Given the description of an element on the screen output the (x, y) to click on. 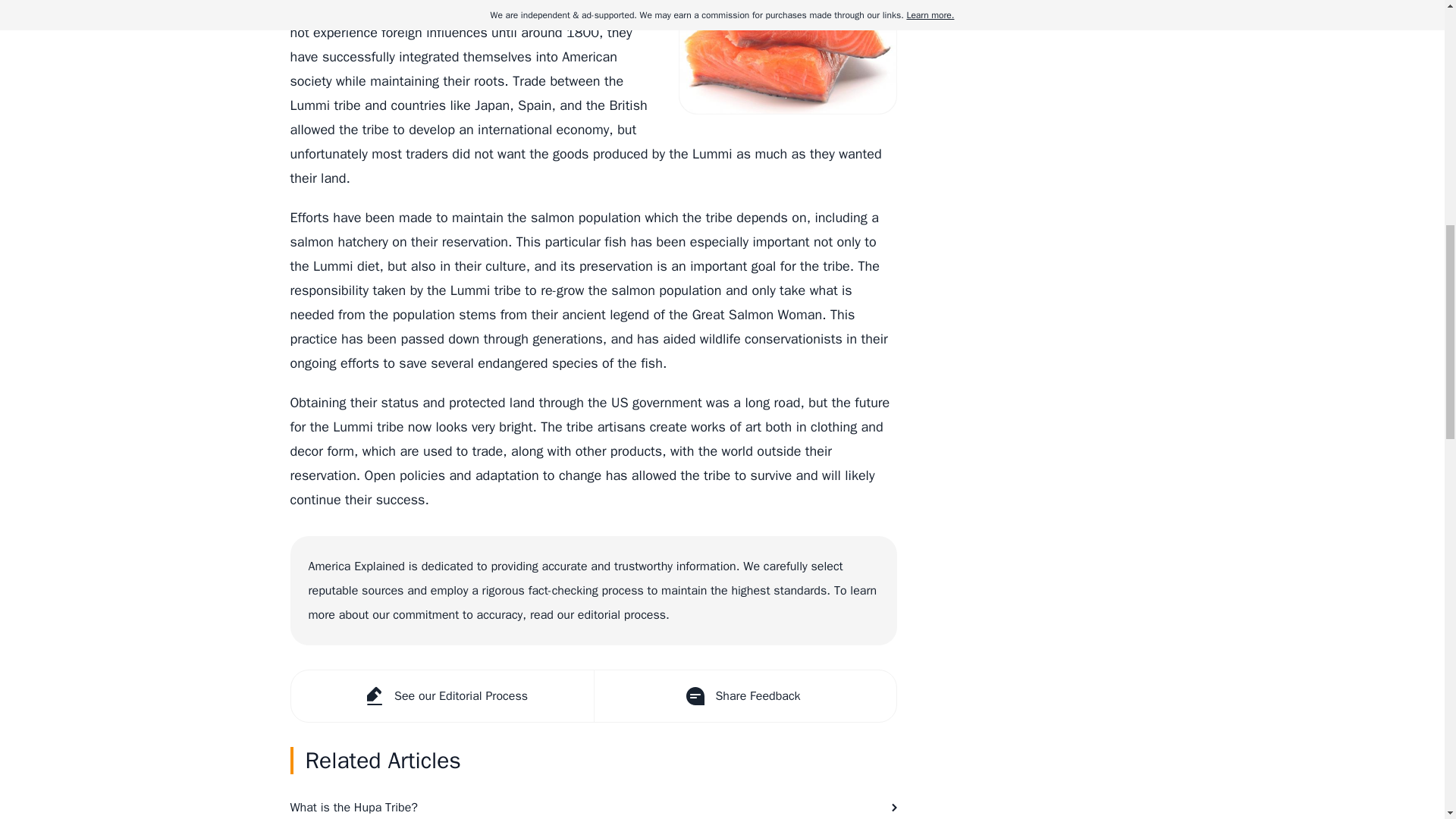
See our Editorial Process (442, 695)
Share Feedback (743, 695)
What is the Hupa Tribe? (592, 802)
